Given the description of an element on the screen output the (x, y) to click on. 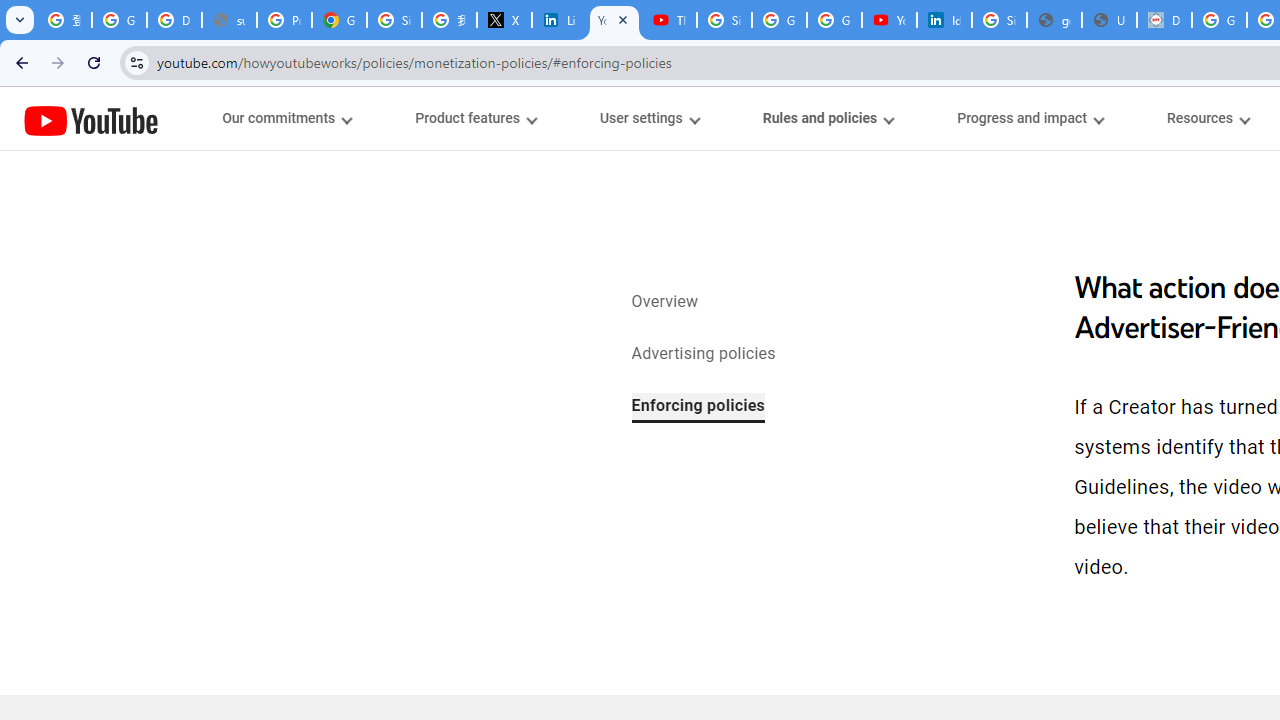
Resources menupopup (1208, 118)
User Details (1108, 20)
X (504, 20)
LinkedIn Privacy Policy (559, 20)
Advertising policies (703, 354)
support.google.com - Network error (229, 20)
Rules and policies menupopup (827, 118)
User settings menupopup (648, 118)
google_privacy_policy_en.pdf (1053, 20)
Our commitments menupopup (286, 118)
Progress and impact menupopup (1030, 118)
